Given the description of an element on the screen output the (x, y) to click on. 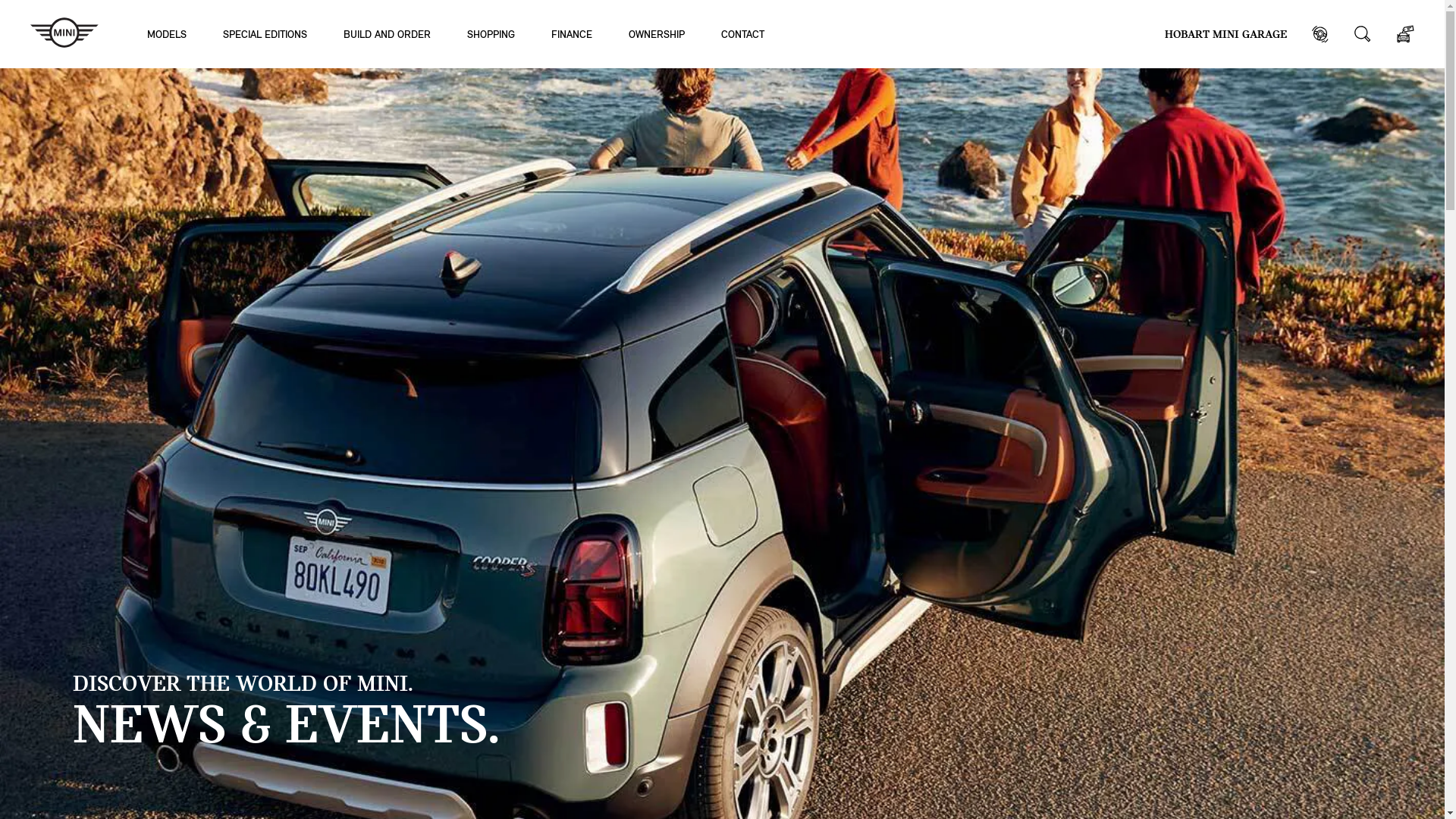
BUILD AND ORDER Element type: text (386, 33)
